Given the description of an element on the screen output the (x, y) to click on. 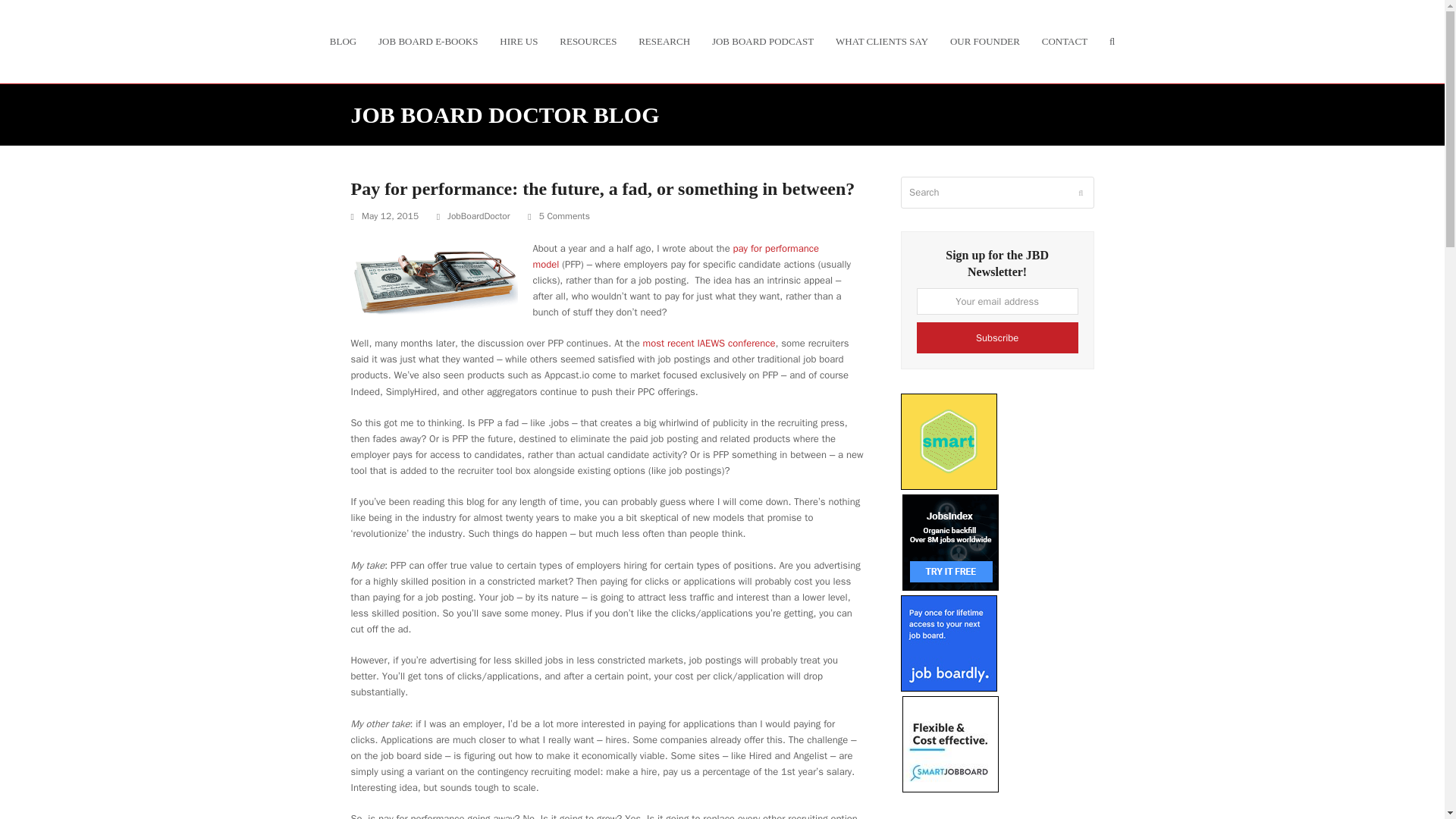
most recent IAEWS conference (709, 342)
Posts by JobBoardDoctor (478, 215)
BLOG (342, 41)
RESEARCH (664, 41)
Resources (587, 41)
OUR FOUNDER (984, 41)
JobBoardDoctor (478, 215)
RESOURCES (587, 41)
pay for performance model (675, 255)
5 Comments (563, 216)
Contact (1063, 41)
CONTACT (1063, 41)
5 Comments (558, 216)
WHAT CLIENTS SAY (882, 41)
